Given the description of an element on the screen output the (x, y) to click on. 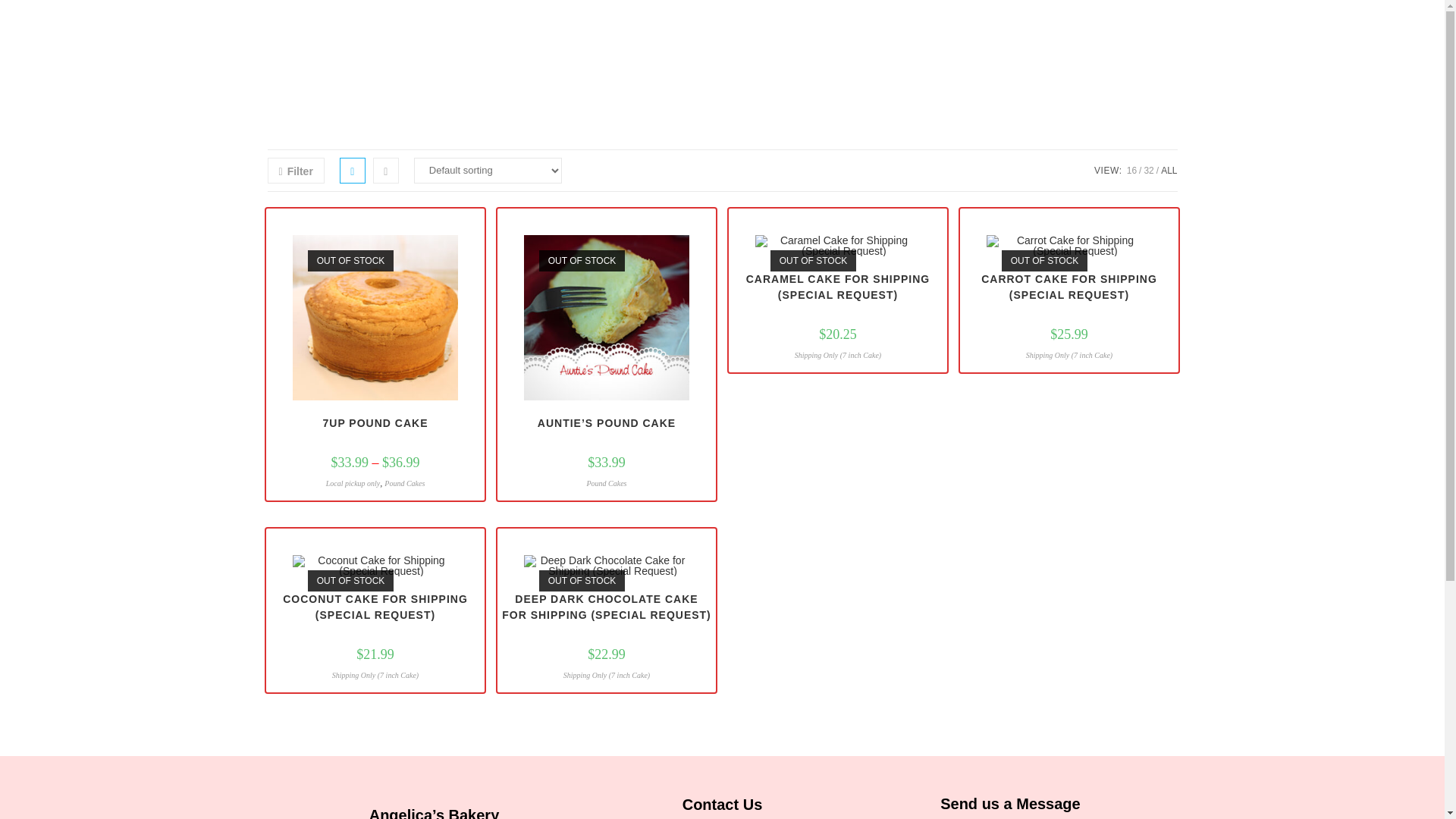
Pound Cakes (404, 483)
Filter (294, 170)
Grid view (352, 170)
Local pickup only (353, 483)
Pound Cakes (606, 483)
List view (385, 170)
ALL (1168, 170)
16 (1131, 170)
7UP POUND CAKE (375, 423)
32 (1147, 170)
